Given the description of an element on the screen output the (x, y) to click on. 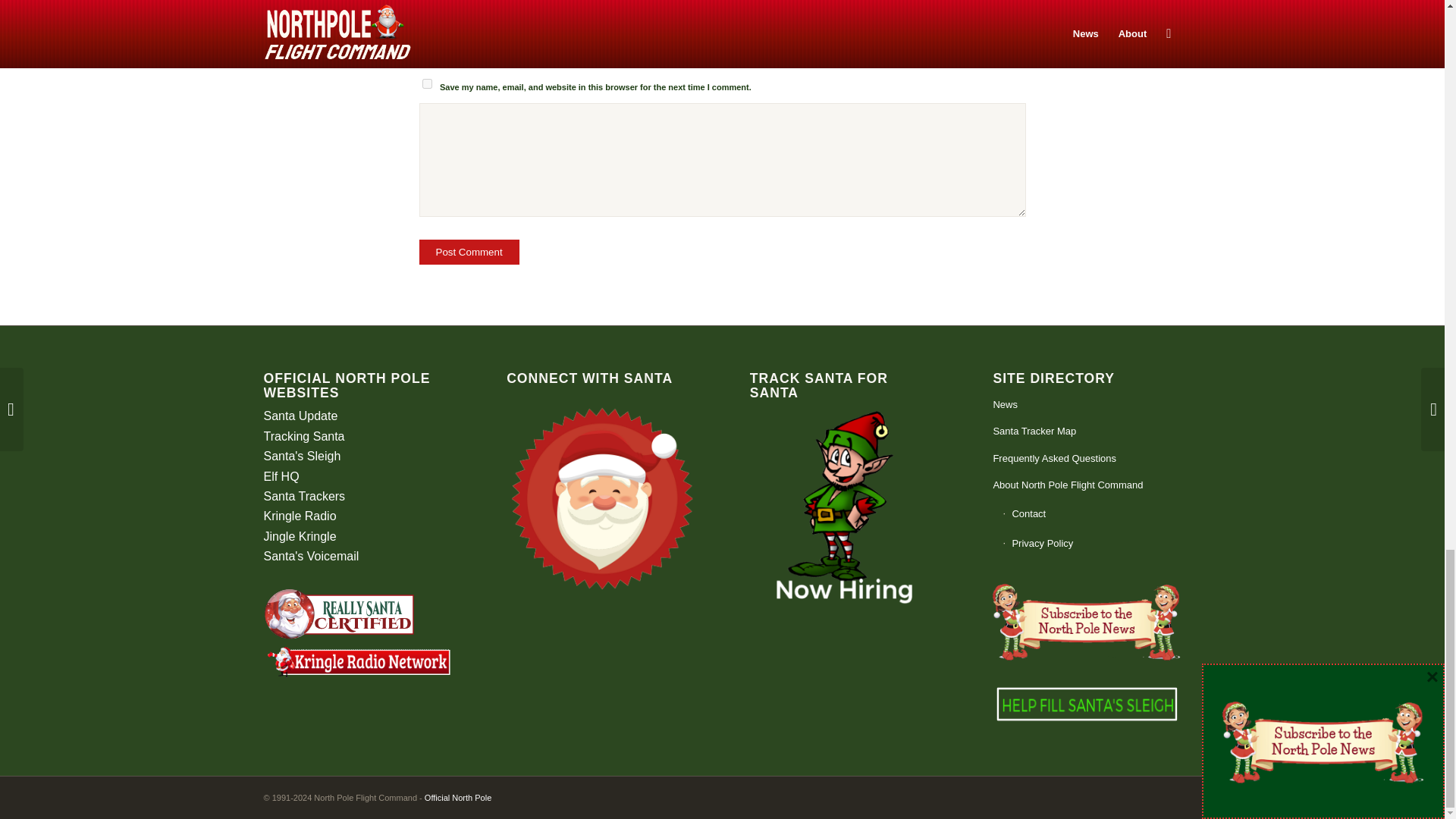
Post Comment (468, 251)
yes (426, 83)
Santa Update (300, 415)
Post Comment (468, 251)
